Given the description of an element on the screen output the (x, y) to click on. 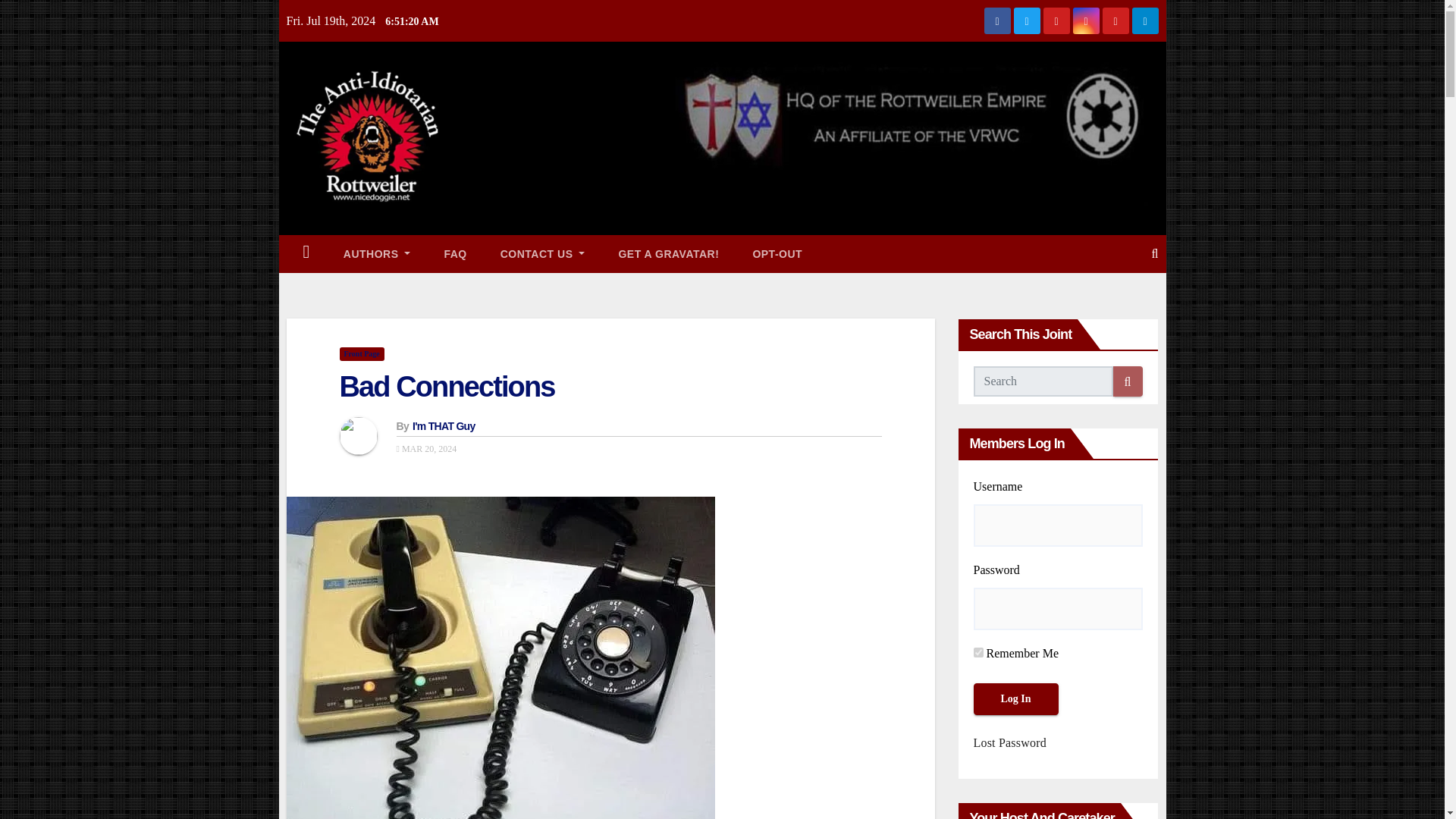
AUTHORS (377, 253)
FAQ (454, 253)
CONTACT US (542, 253)
Bad Connections (446, 386)
Home (306, 253)
GET A GRAVATAR! (668, 253)
Contact Us (542, 253)
Authors (377, 253)
FAQ (454, 253)
OPT-OUT (776, 253)
I'm THAT Guy (444, 426)
Front Page (361, 354)
